Given the description of an element on the screen output the (x, y) to click on. 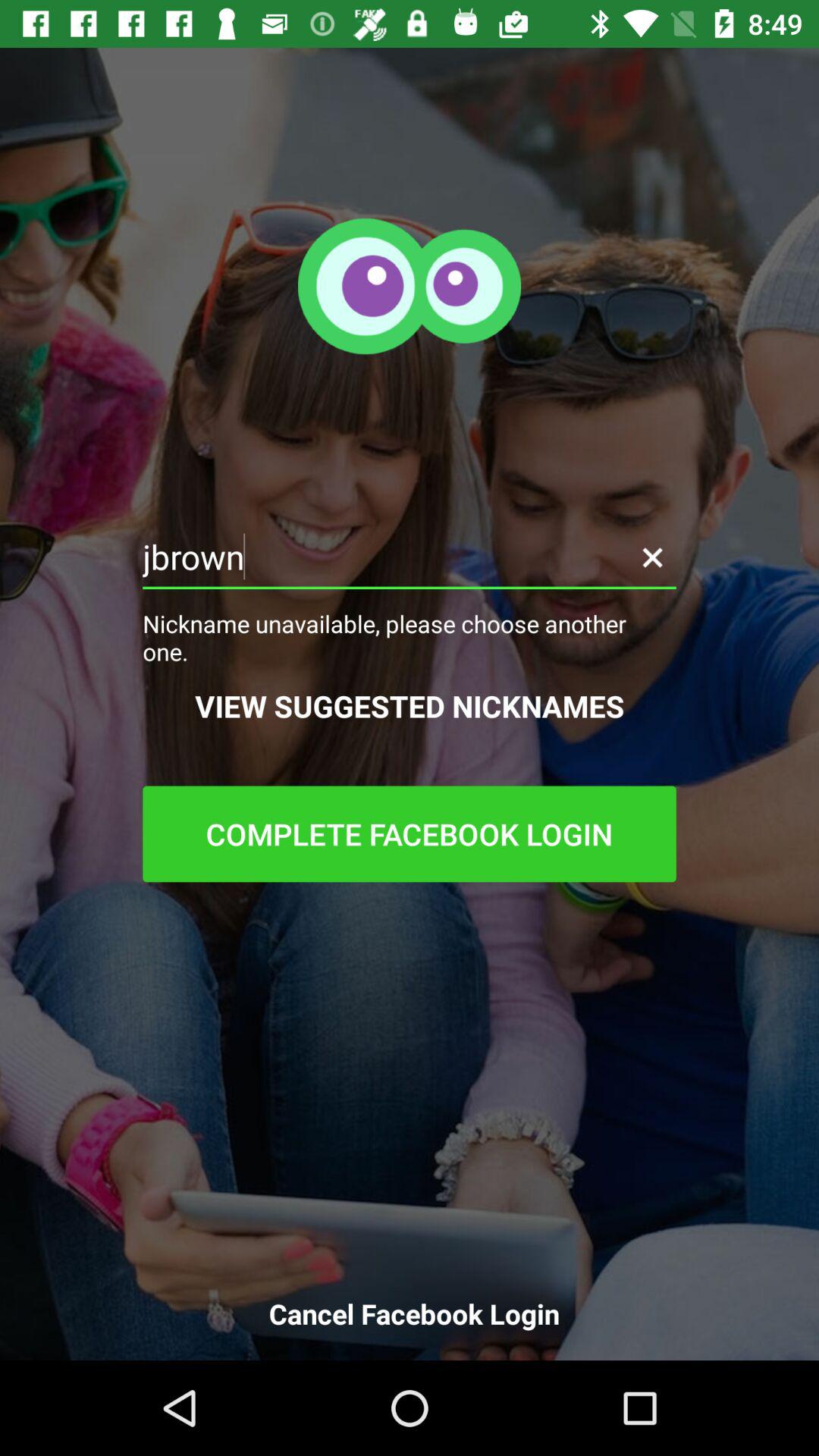
open the icon above the complete facebook login (409, 705)
